Given the description of an element on the screen output the (x, y) to click on. 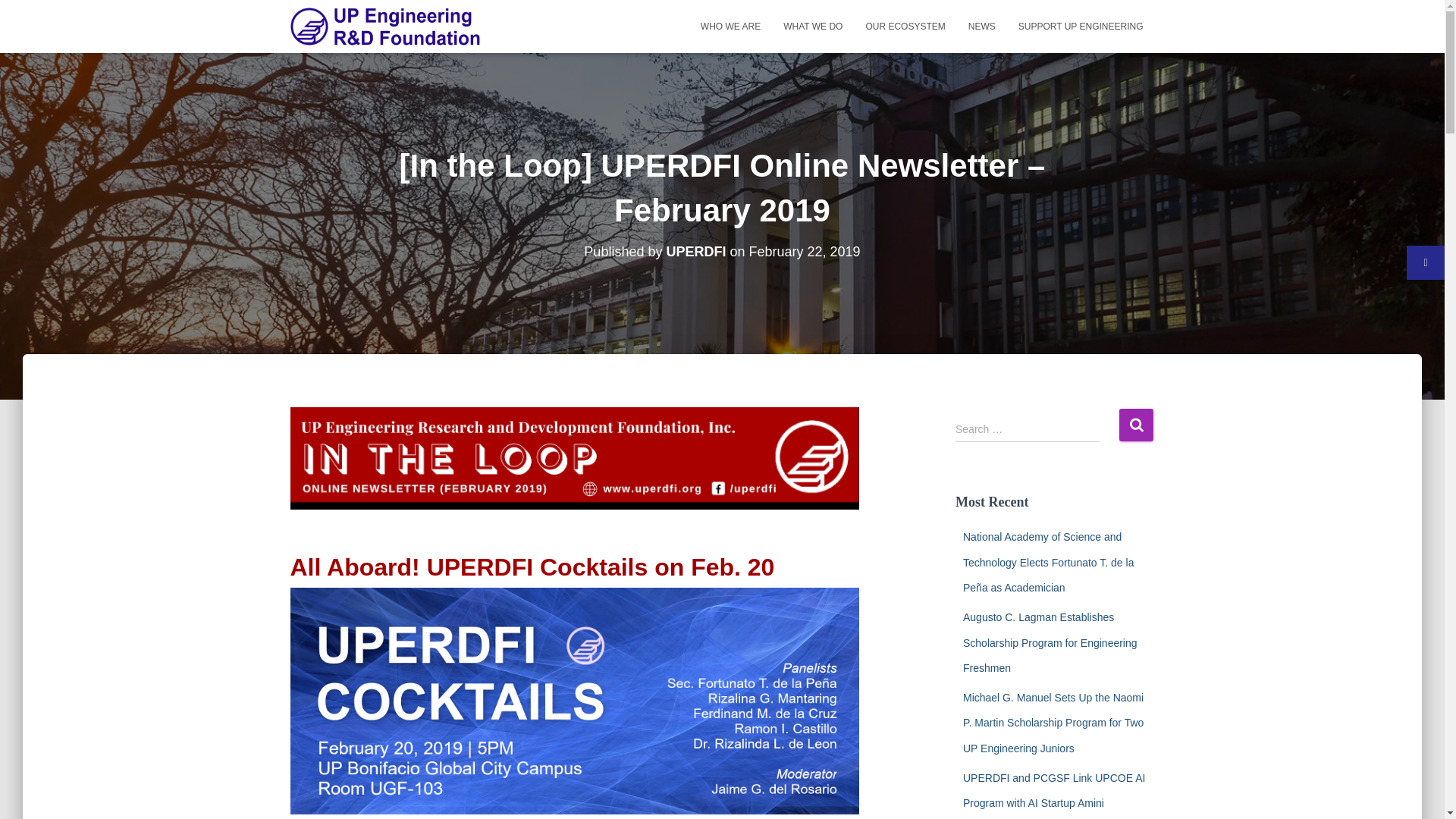
Search (1136, 424)
Search (1136, 424)
UPERDFI (695, 251)
News (981, 26)
Who We Are (729, 26)
WHAT WE DO (812, 26)
Search (1136, 424)
Our Ecosystem (904, 26)
WHO WE ARE (729, 26)
OUR ECOSYSTEM (904, 26)
